Given the description of an element on the screen output the (x, y) to click on. 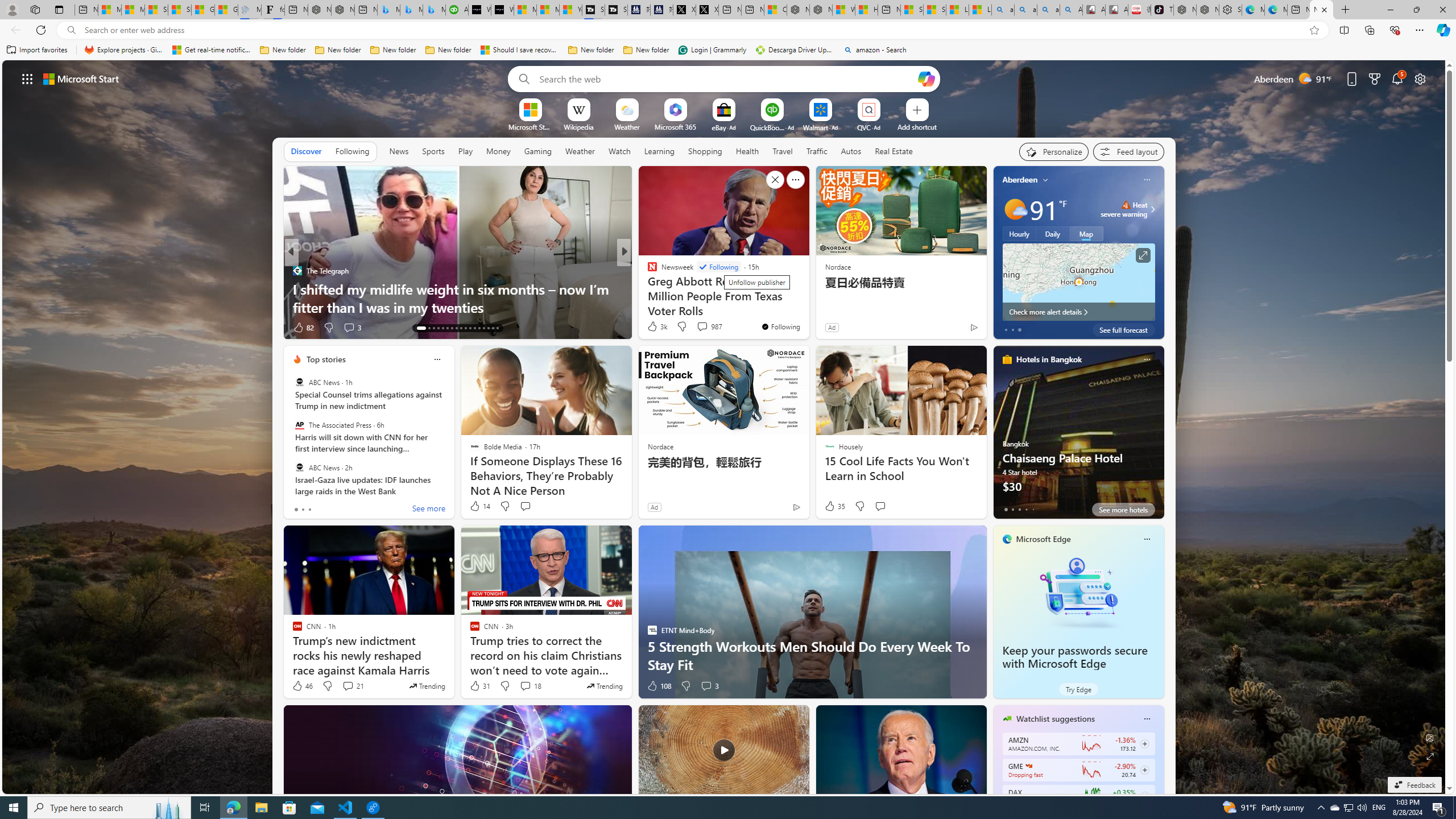
POLITICO (647, 270)
tab-2 (1019, 509)
View comments 18 Comment (530, 685)
Class: follow-button  m (1144, 795)
Hourly (1018, 233)
See more hotels (1123, 509)
View comments 156 Comment (703, 327)
Class: weather-arrow-glyph (1152, 208)
Larger map  (1077, 282)
tab-1 (1012, 509)
